Given the description of an element on the screen output the (x, y) to click on. 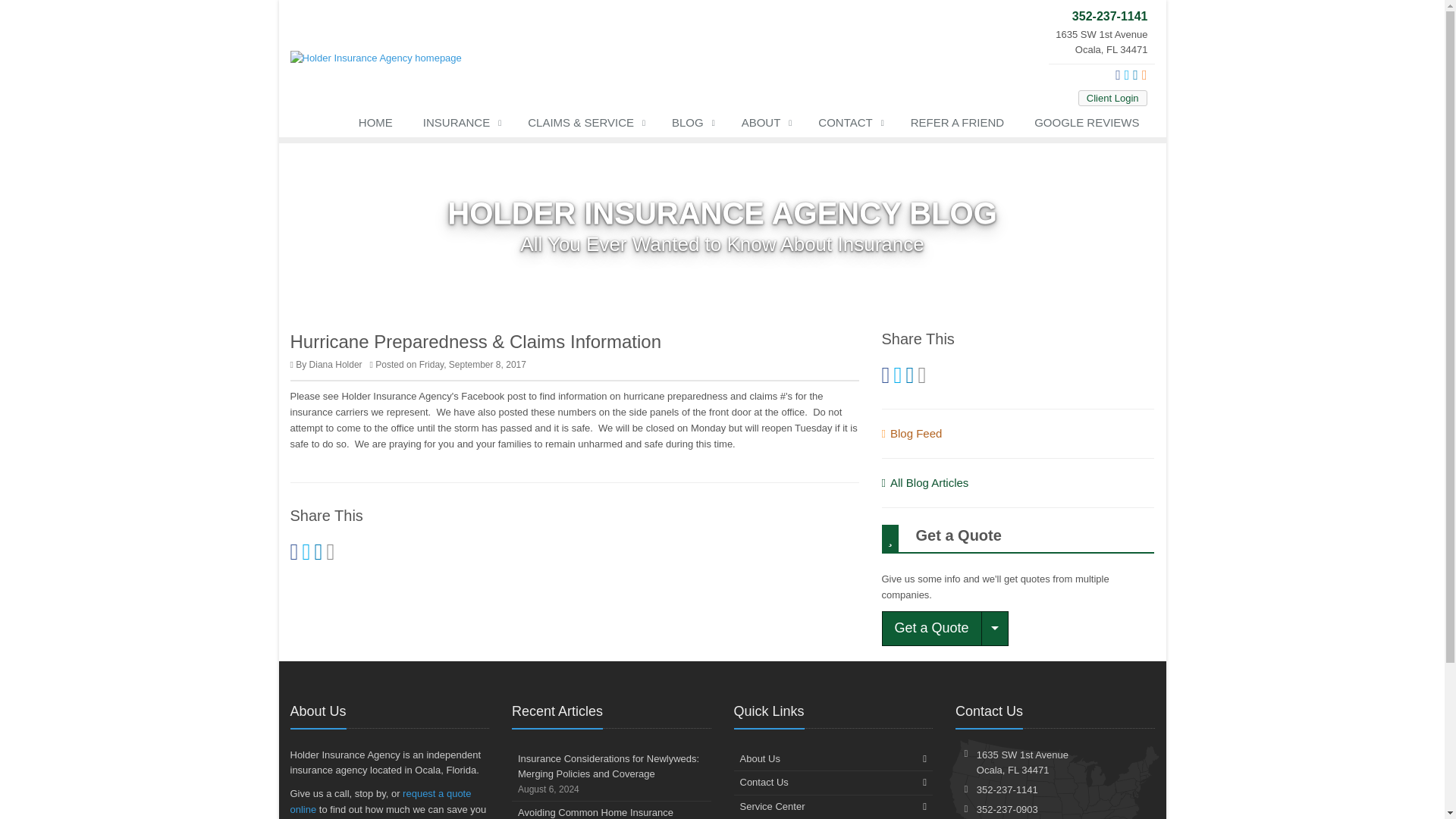
HOME (375, 125)
ABOUT (764, 125)
BLOG (691, 125)
INSURANCE (459, 125)
